Given the description of an element on the screen output the (x, y) to click on. 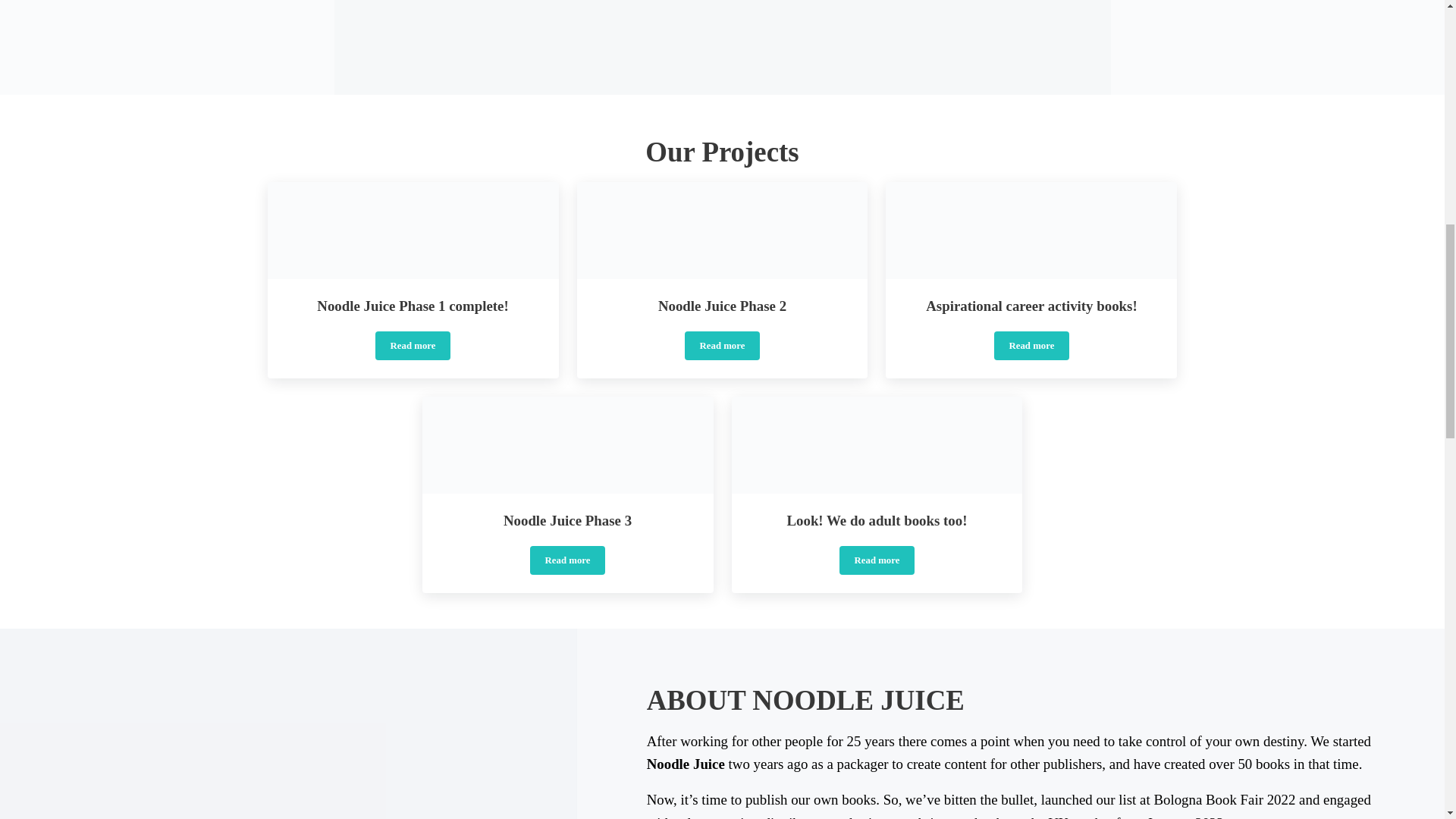
Noodle Juice Phase 1 complete! (722, 345)
Noodle Juice Phase 2 (877, 560)
Look! We do adult books too! (412, 305)
Aspirational career activity books! (722, 305)
Noodle Juice Phase 3 (1032, 345)
